Given the description of an element on the screen output the (x, y) to click on. 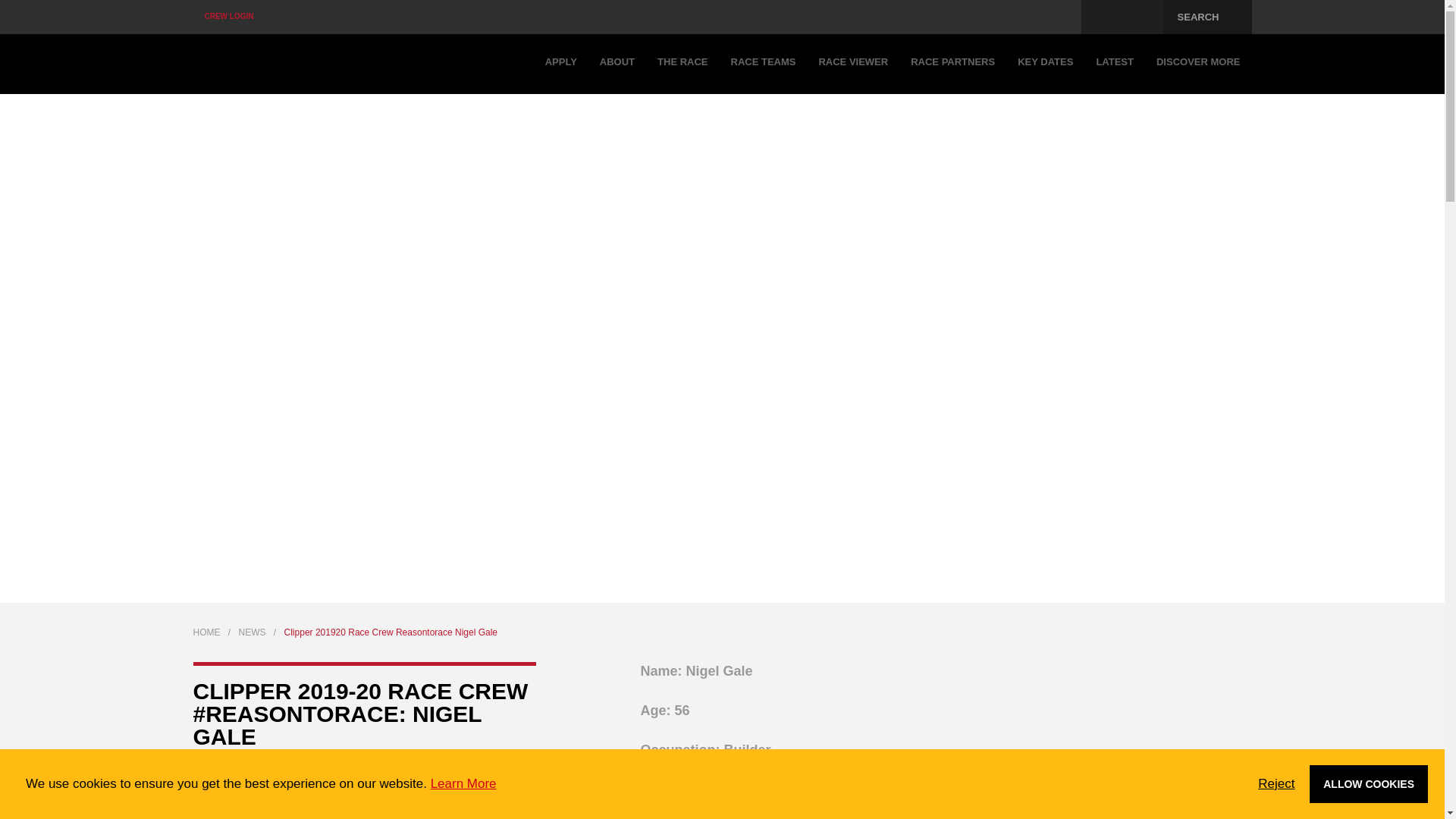
Chinese (1061, 17)
Chinese (1061, 17)
Clipper - Round The World (275, 64)
APPLY (561, 64)
Unicef (1122, 17)
THE RACE (682, 64)
RACE TEAMS (762, 64)
Clipper Round The World (275, 64)
Chinese (1061, 17)
English (1037, 17)
